Given the description of an element on the screen output the (x, y) to click on. 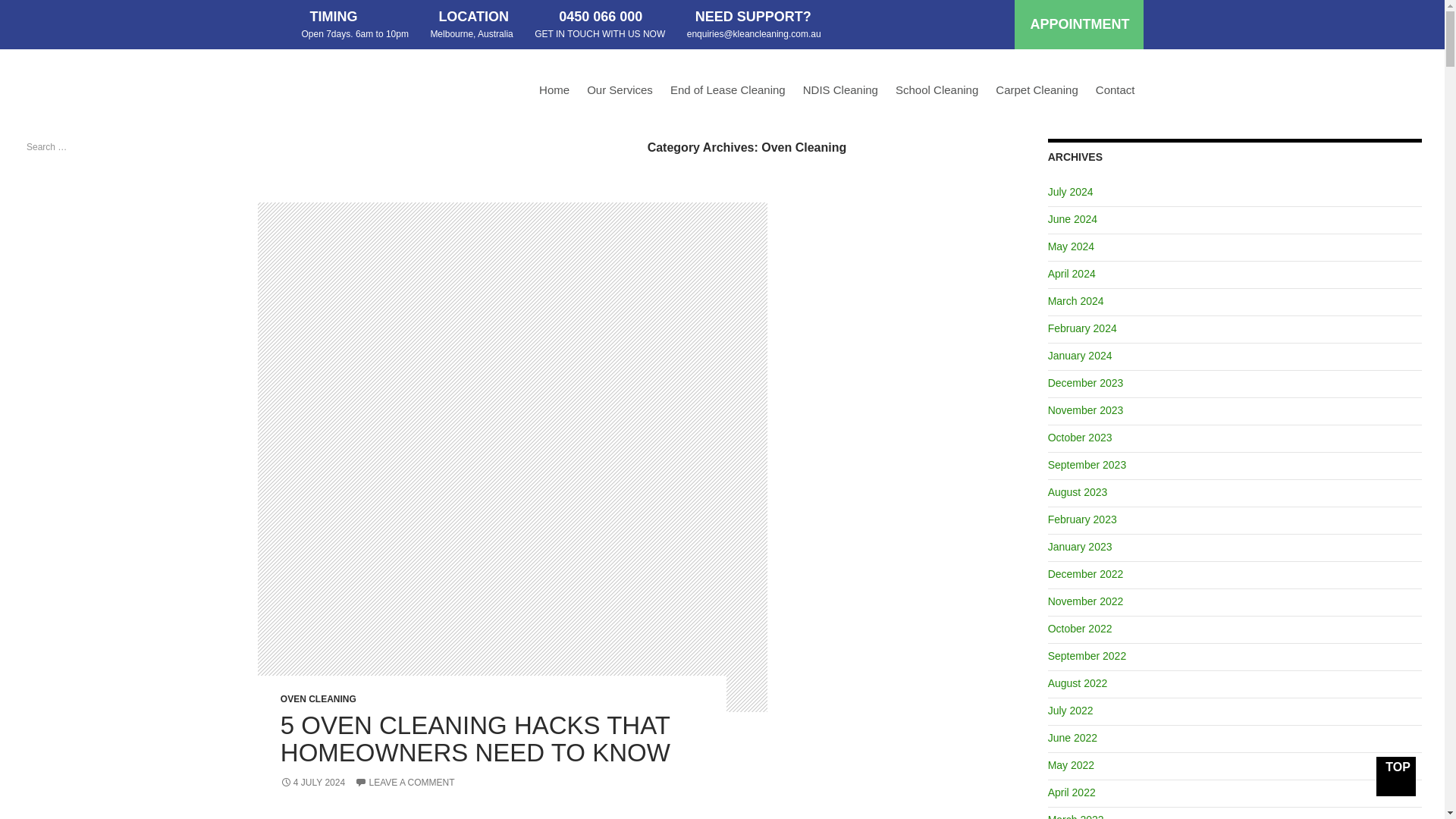
OVEN CLEANING (318, 698)
School Cleaning (936, 93)
0450 066 000 (600, 16)
NDIS Cleaning (839, 93)
Our Services (620, 93)
Carpet Cleaning (1036, 93)
APPOINTMENT (1078, 23)
End of Lease Cleaning (727, 93)
